Given the description of an element on the screen output the (x, y) to click on. 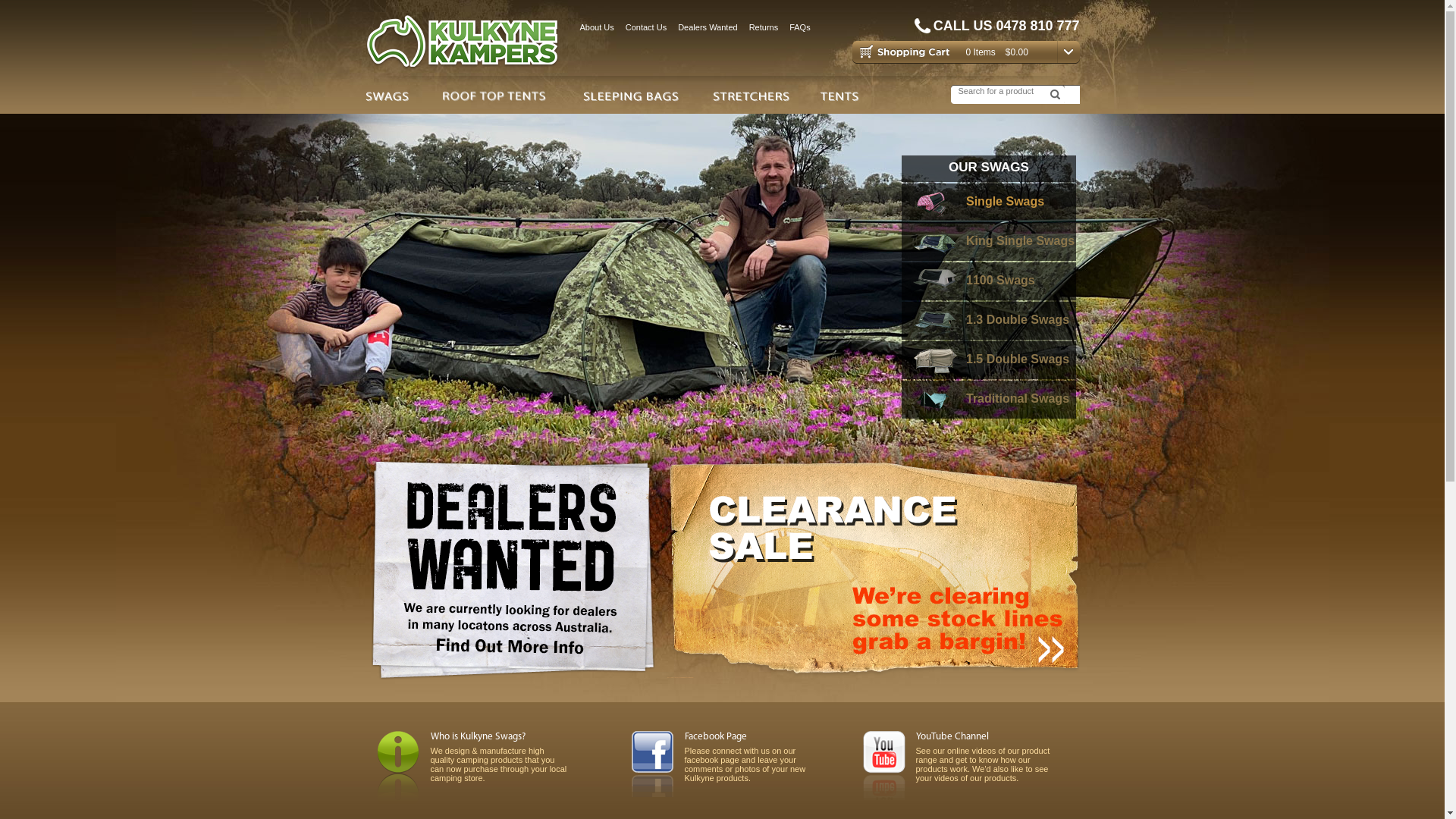
Dealers Wanted Element type: text (707, 26)
1.3 Double Swags Element type: text (988, 320)
Contact Us Element type: text (645, 26)
Returns Element type: text (763, 26)
King Single Swags Element type: text (988, 241)
FAQs Element type: text (799, 26)
1.5 Double Swags Element type: text (988, 360)
1100 Swags Element type: text (988, 281)
Traditional Swags Element type: text (988, 399)
About Us Element type: text (596, 26)
Single Swags Element type: text (988, 202)
